Given the description of an element on the screen output the (x, y) to click on. 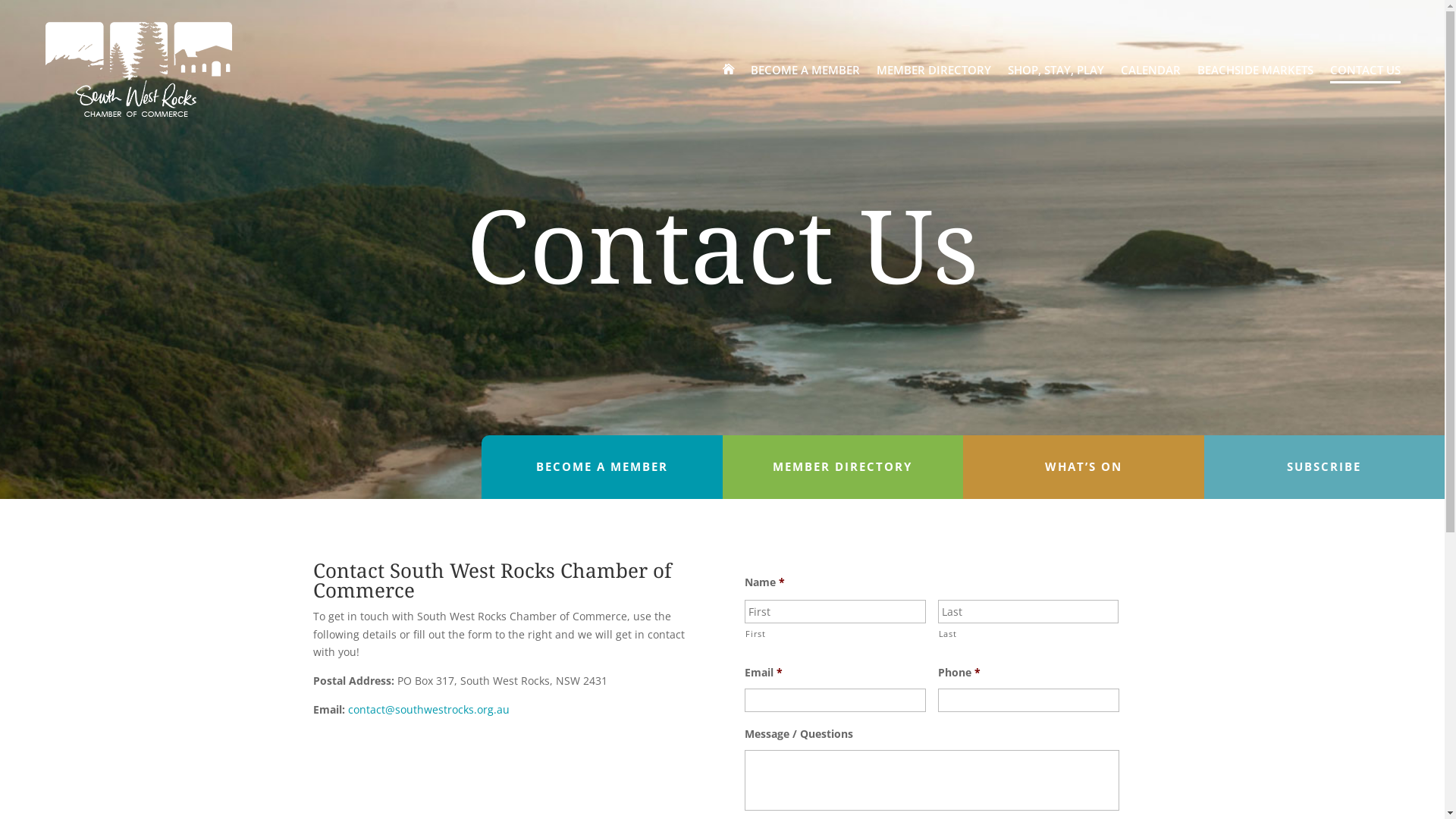
CONTACT US Element type: text (1365, 69)
CALENDAR Element type: text (1150, 69)
MEMBER DIRECTORY Element type: text (933, 69)
BECOME A MEMBER Element type: text (804, 69)
contact@southwestrocks.org.au Element type: text (427, 709)
Website by Creative Jane Element type: text (844, 799)
footer-logo Element type: hover (361, 682)
BEACHSIDE MARKETS Element type: text (1255, 69)
SHOP, STAY, PLAY Element type: text (1055, 69)
